Given the description of an element on the screen output the (x, y) to click on. 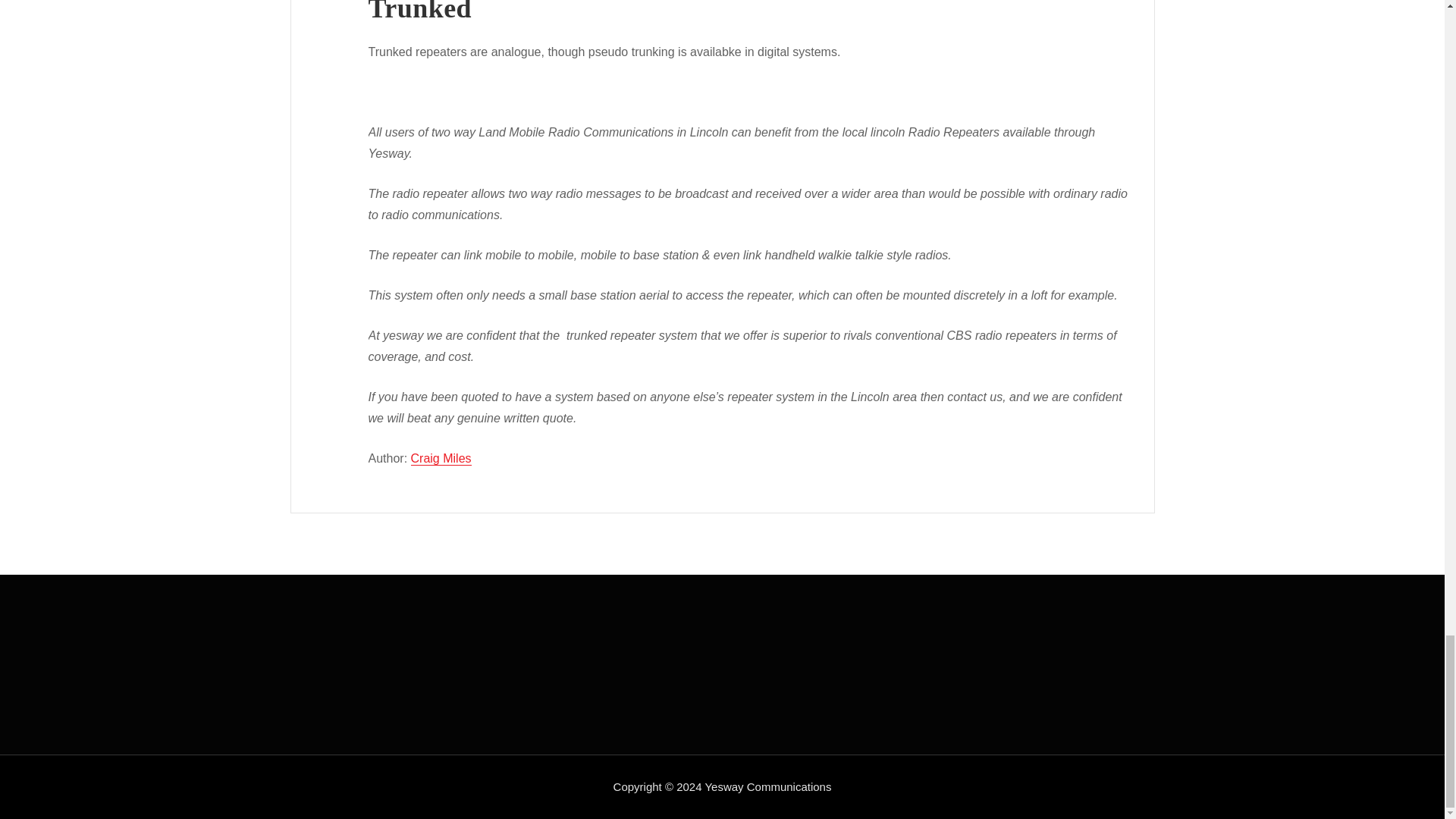
Craig Miles (440, 458)
